Given the description of an element on the screen output the (x, y) to click on. 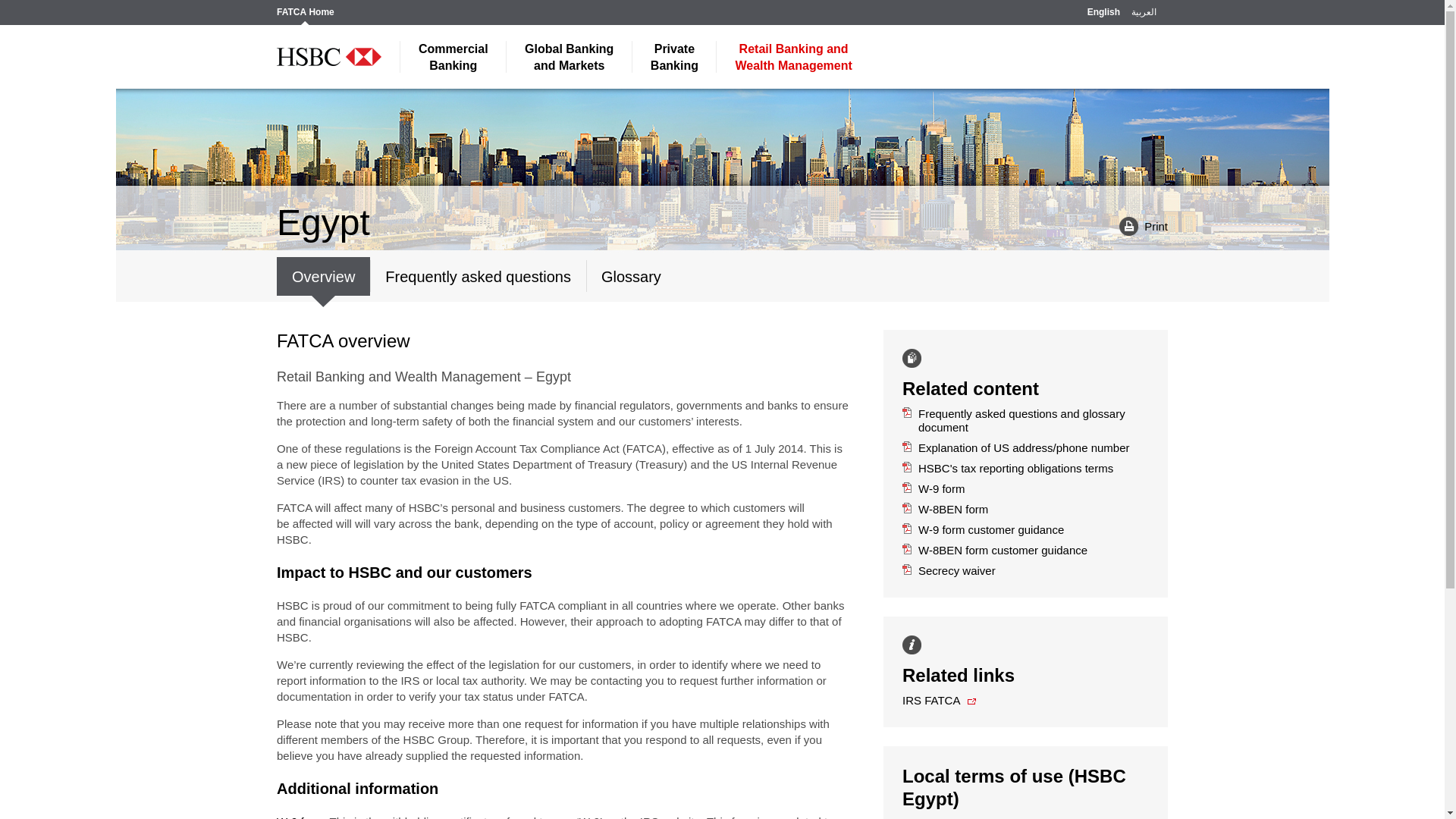
English (305, 16)
